Given the description of an element on the screen output the (x, y) to click on. 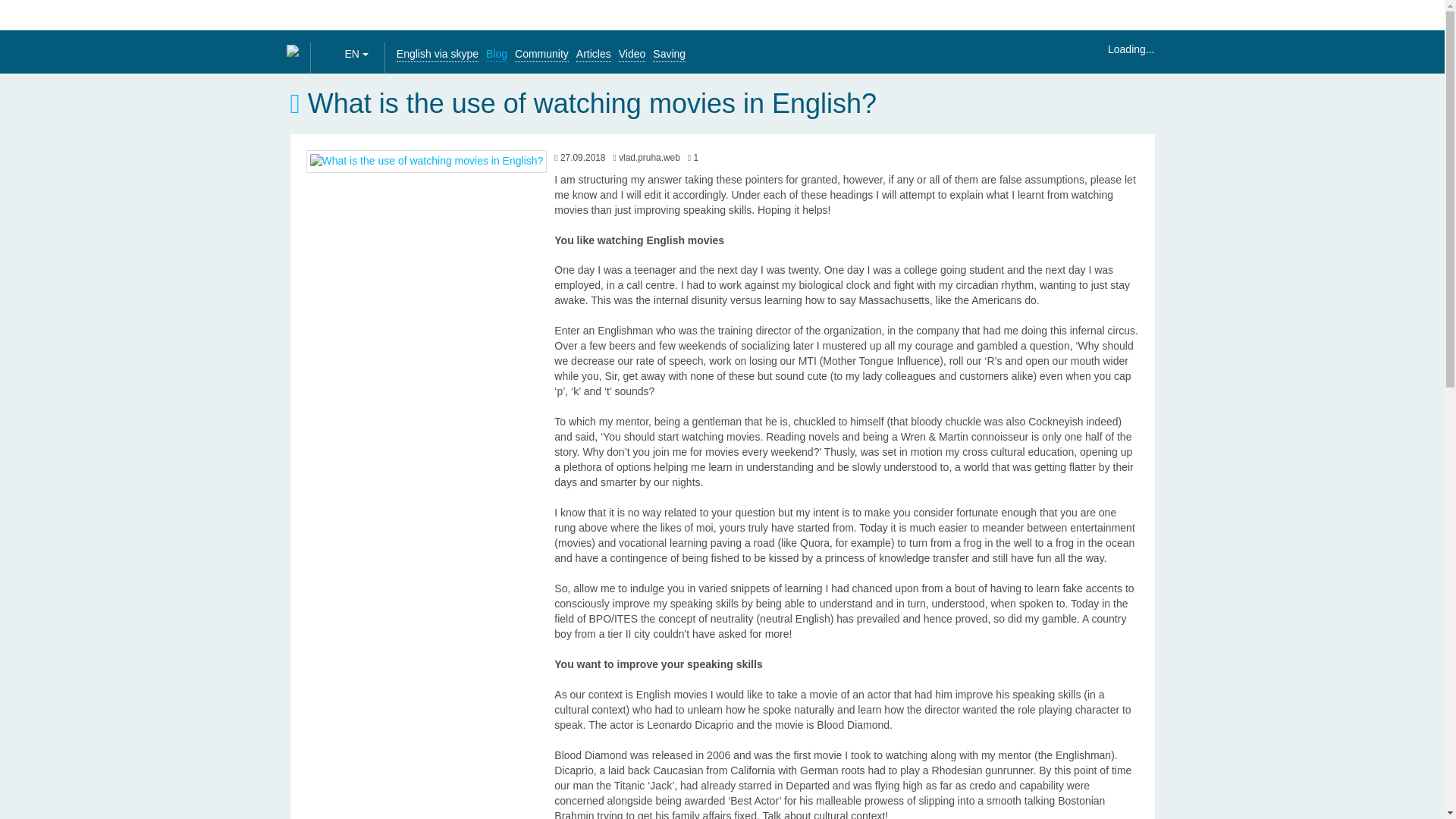
Blog (496, 53)
Video (632, 53)
EN (356, 54)
Articles (593, 53)
en (334, 53)
English via skype (437, 53)
Community (542, 53)
Saving (668, 53)
